Given the description of an element on the screen output the (x, y) to click on. 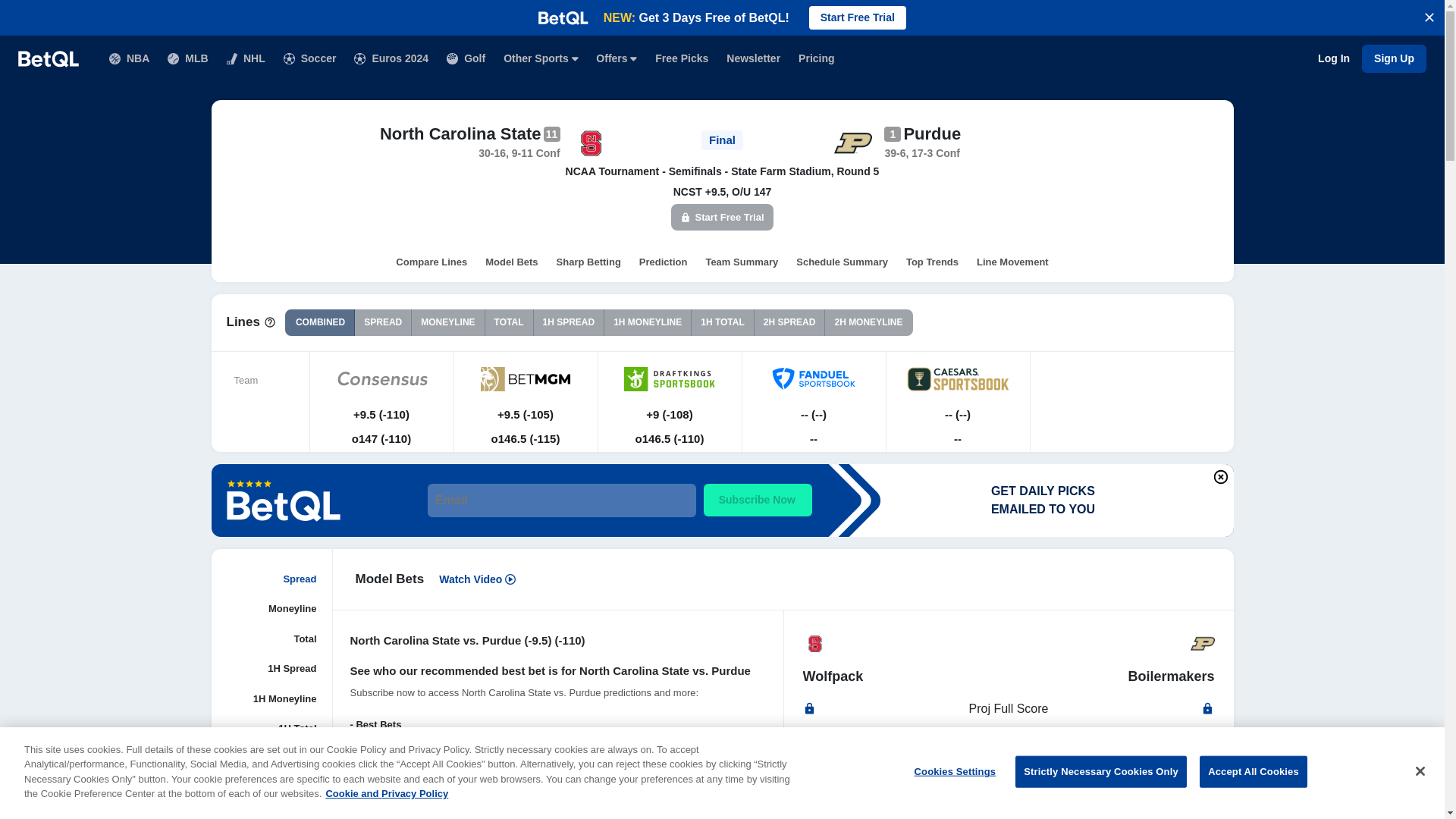
NBA (129, 58)
BetQL (47, 58)
Start Free Trial (857, 17)
MLB (187, 58)
BetQL (47, 58)
Soccer (309, 58)
NHL (245, 58)
